Given the description of an element on the screen output the (x, y) to click on. 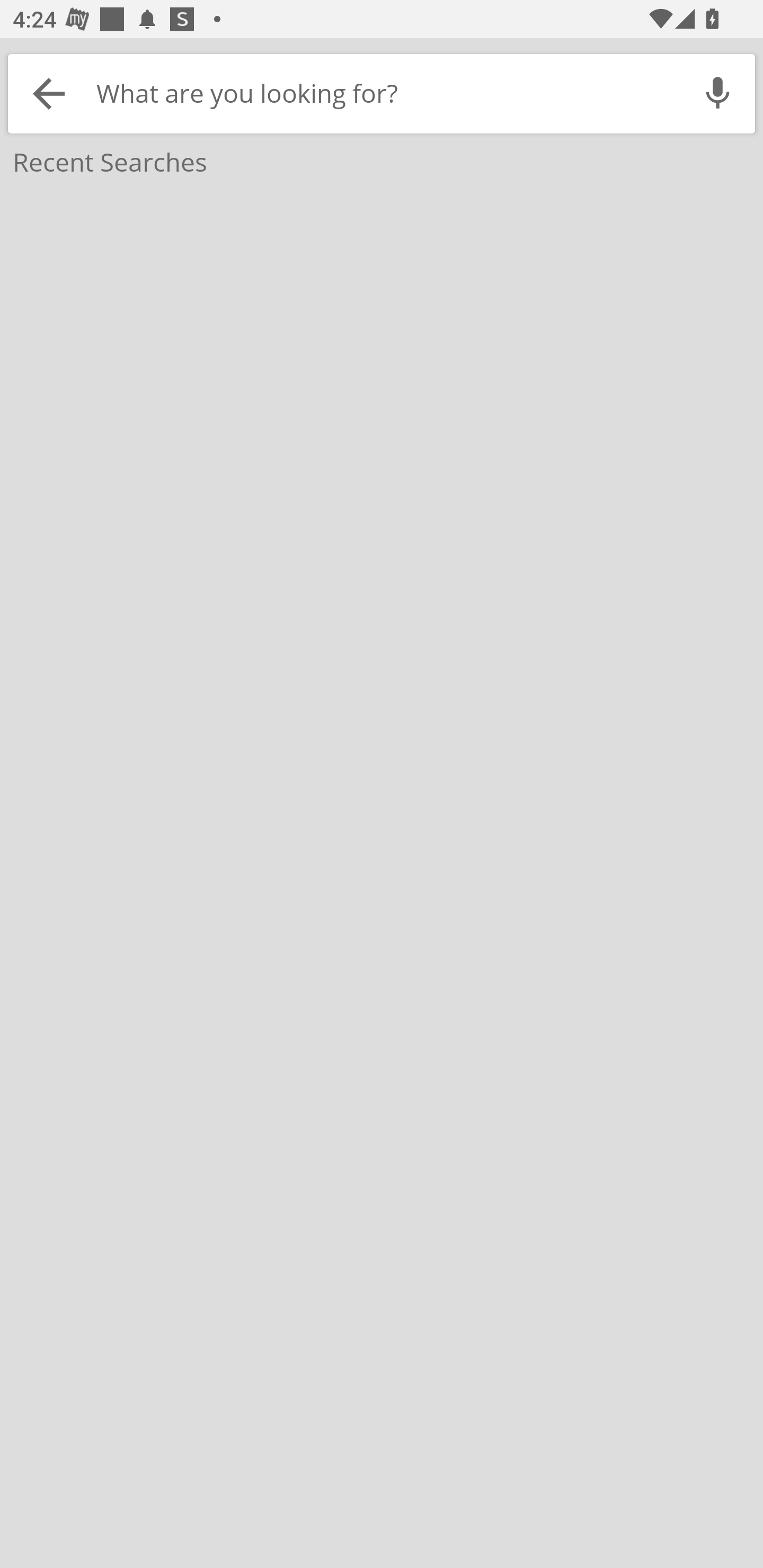
What are you looking for? (385, 93)
